Given the description of an element on the screen output the (x, y) to click on. 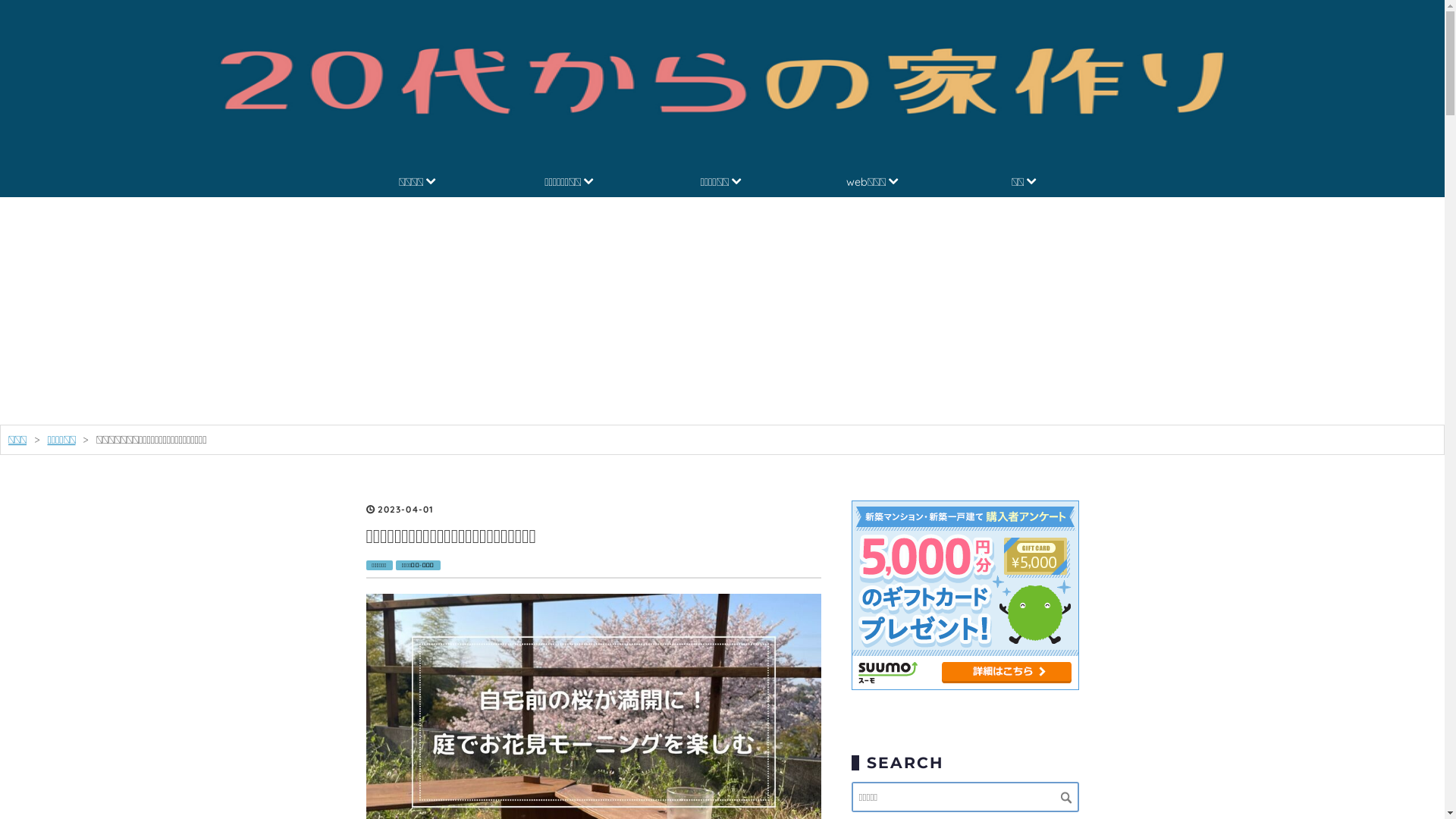
2023-04-01 Element type: text (405, 508)
